Given the description of an element on the screen output the (x, y) to click on. 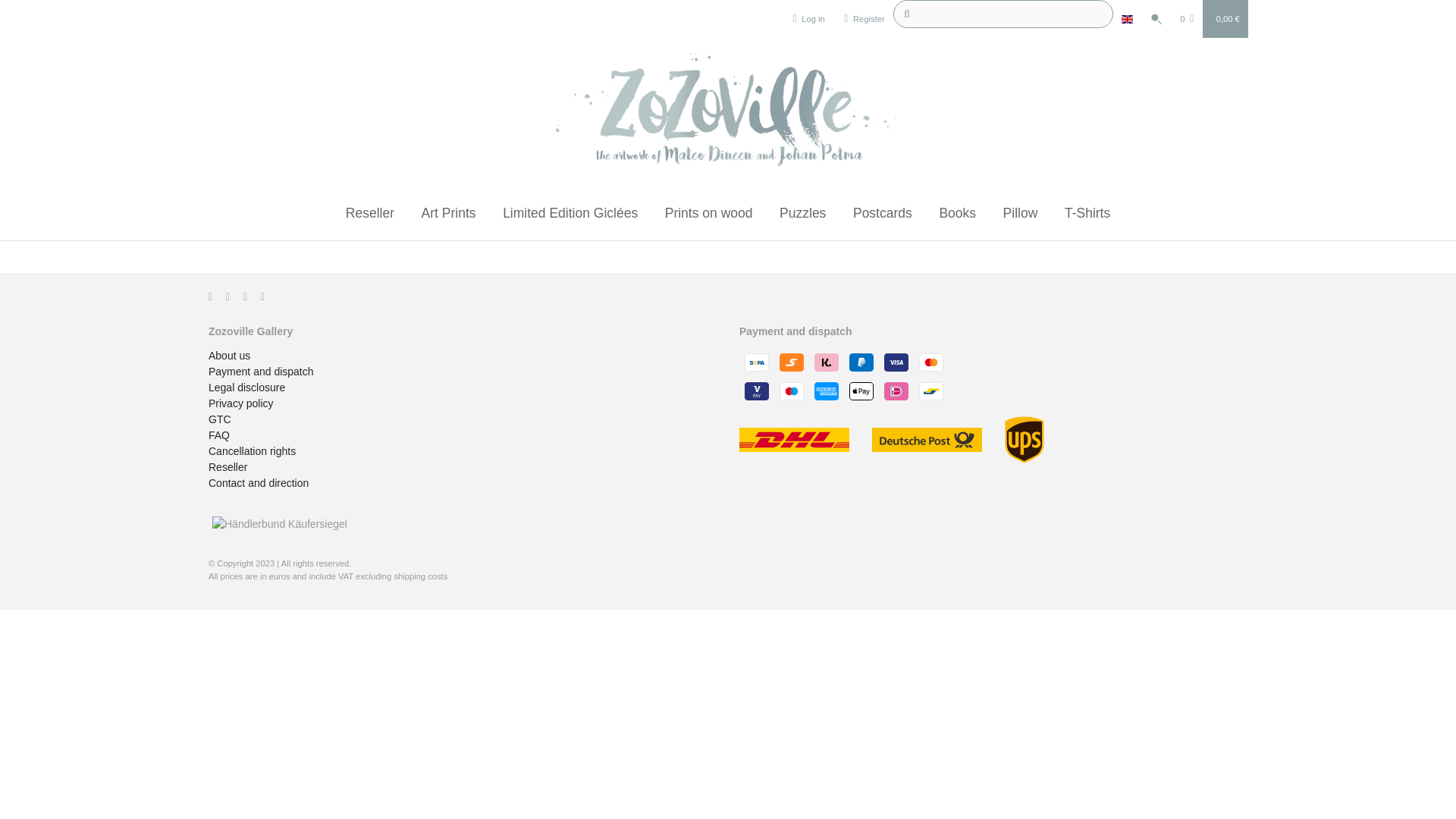
Pillow (1020, 207)
shipping costs (419, 575)
Legal disclosure (246, 387)
About us (229, 355)
Register (864, 18)
Postcards (883, 207)
Puzzles (801, 207)
Reseller (227, 467)
GTC (219, 419)
Reseller (369, 207)
Books (957, 207)
Art Prints (448, 207)
FAQ (219, 435)
Prints on wood (707, 207)
Log in (808, 18)
